Given the description of an element on the screen output the (x, y) to click on. 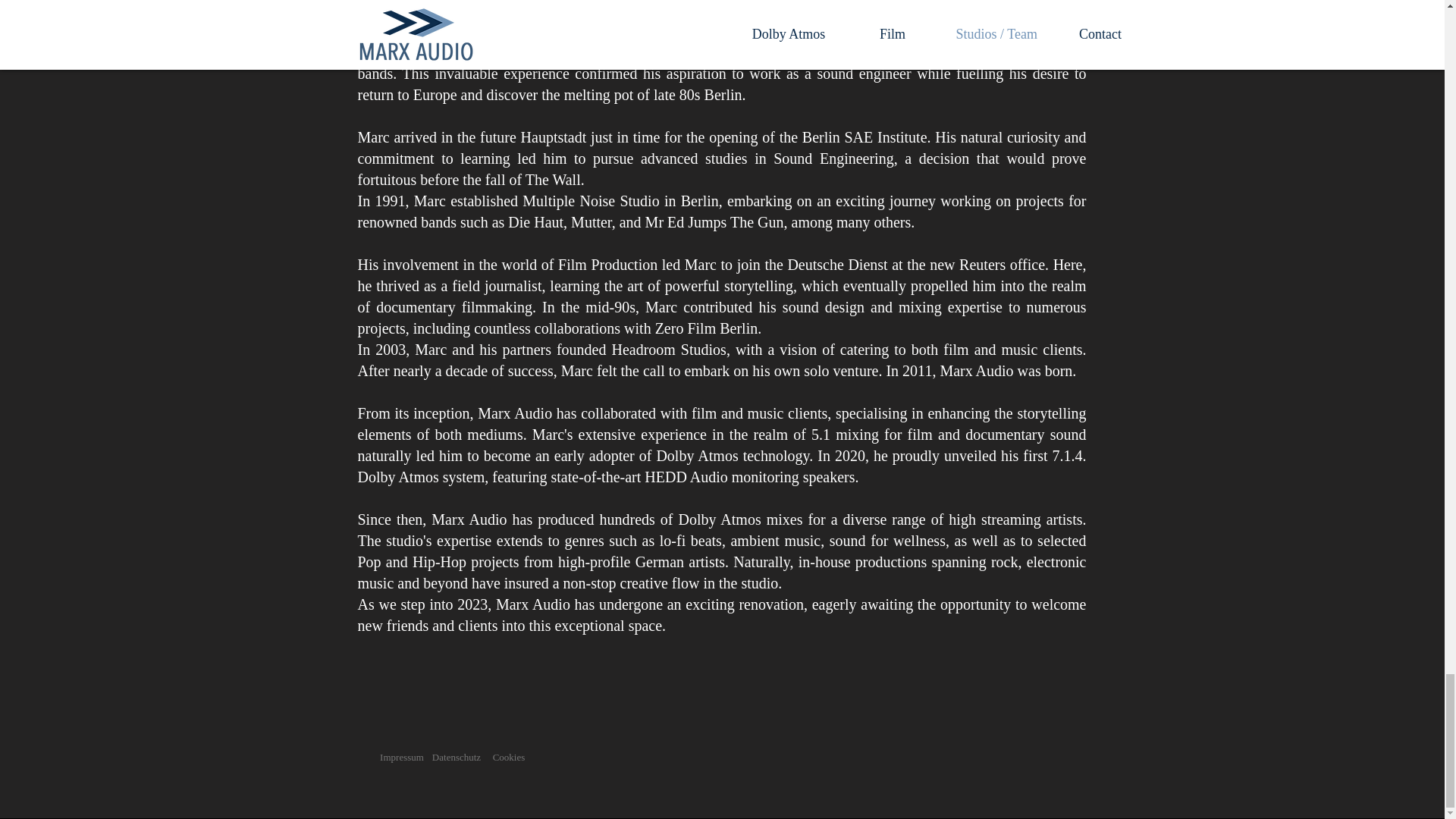
Datenschutz (456, 756)
Cookies (509, 756)
Impressum (401, 756)
